Given the description of an element on the screen output the (x, y) to click on. 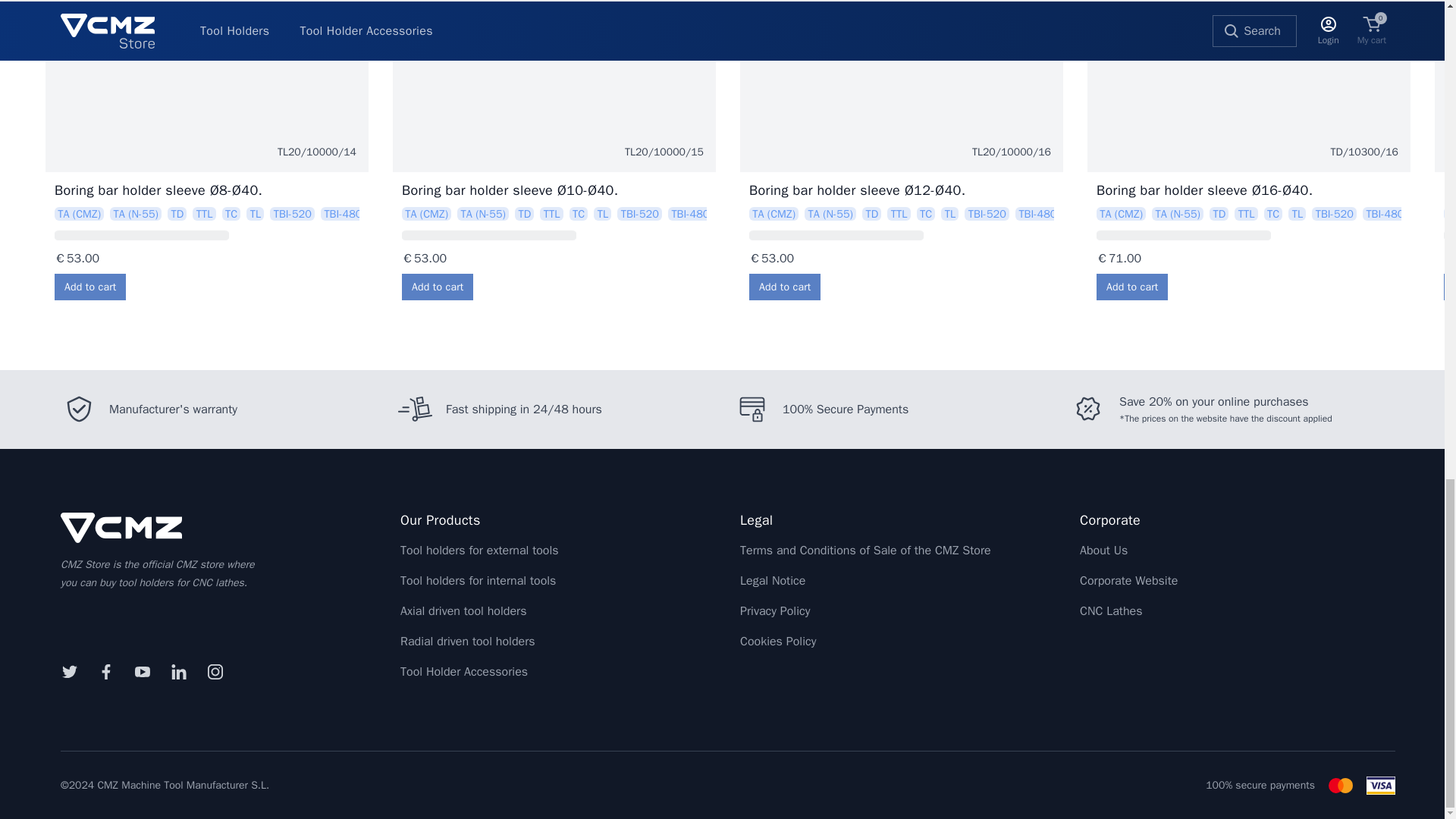
Facebook (105, 671)
Twitter (68, 671)
YouTube (141, 671)
Instagram (214, 671)
LinkedIn (178, 671)
